Given the description of an element on the screen output the (x, y) to click on. 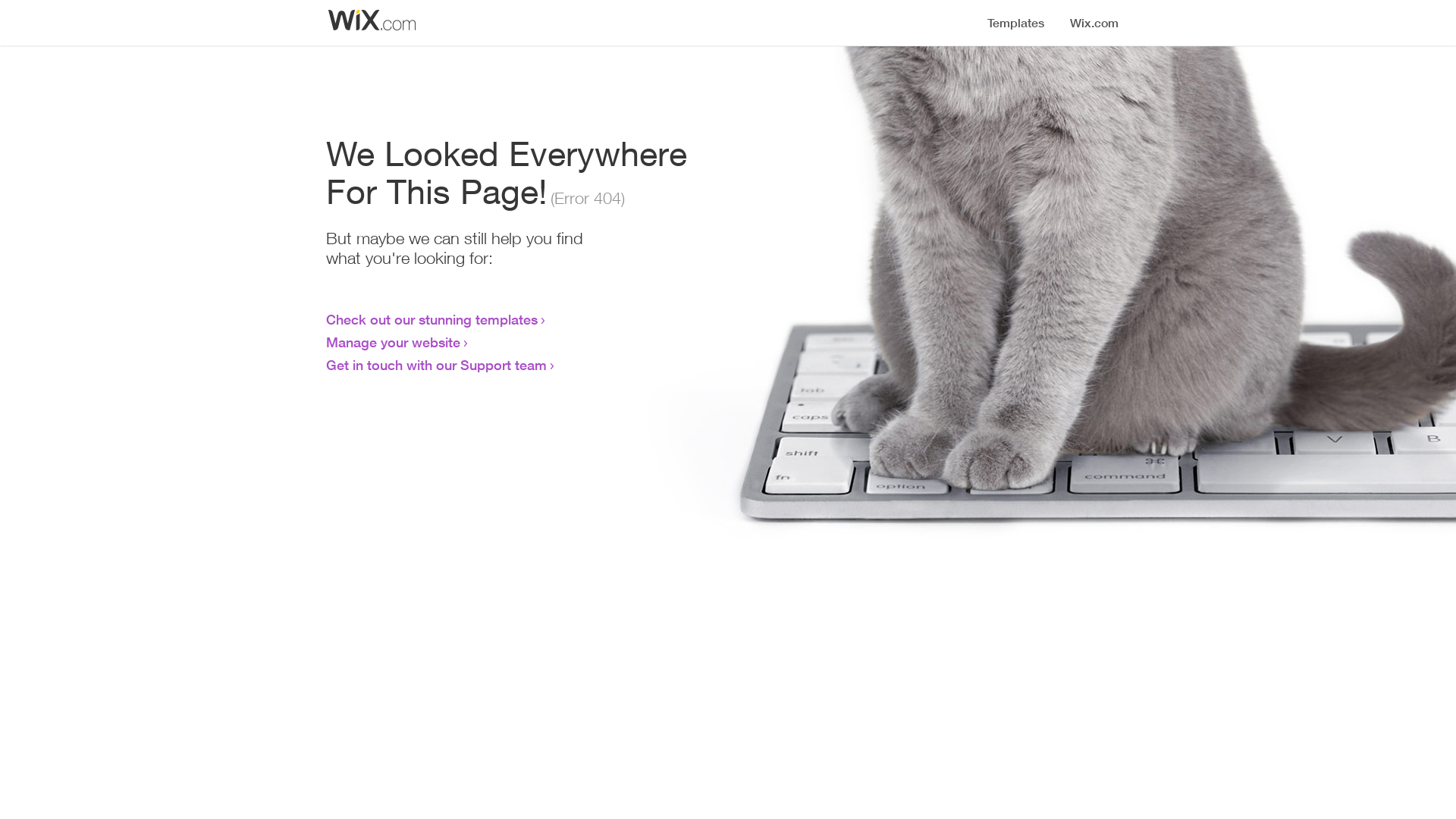
Get in touch with our Support team Element type: text (436, 364)
Check out our stunning templates Element type: text (431, 318)
Manage your website Element type: text (393, 341)
